Given the description of an element on the screen output the (x, y) to click on. 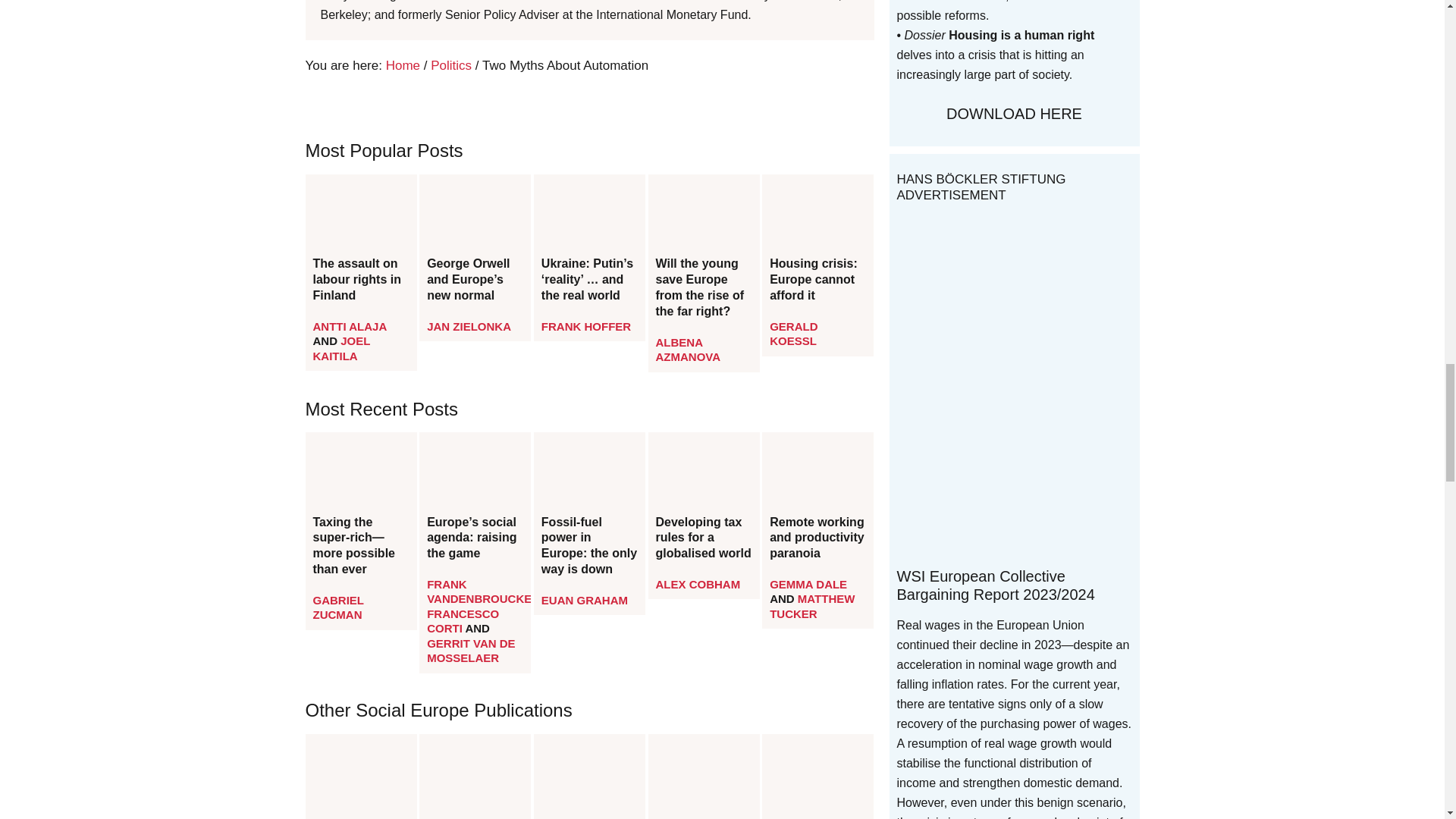
JOEL KAITILA (341, 348)
JAN ZIELONKA (468, 326)
Gerald Koessl (793, 334)
Politics (450, 65)
Jan Zielonka (468, 326)
The assault on labour rights in Finland (360, 279)
View all posts by Gemma Dale (808, 584)
View all posts by Francesco Corti (462, 621)
View all posts by Frank Vandenbroucke (478, 592)
Home (402, 65)
